Given the description of an element on the screen output the (x, y) to click on. 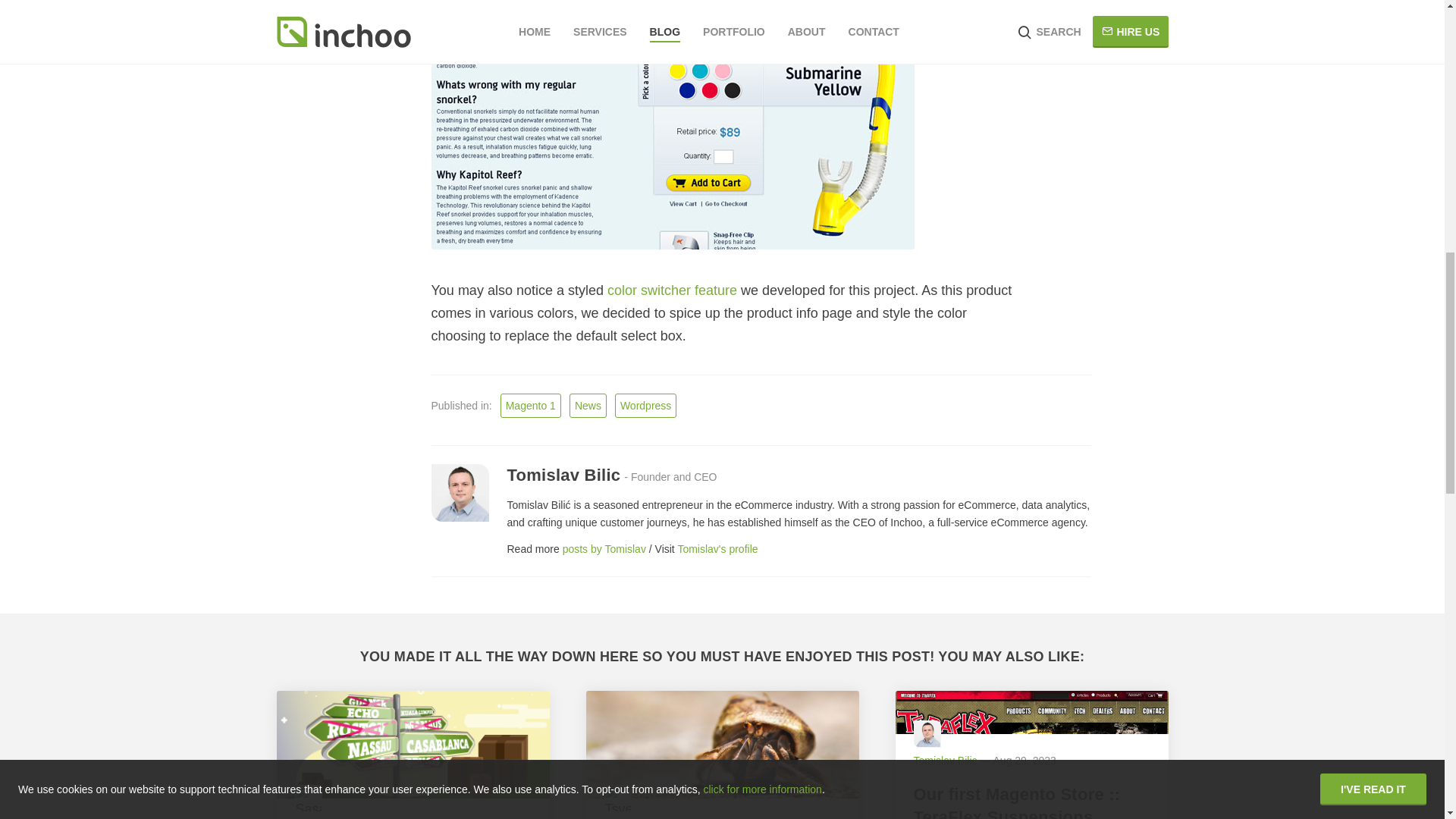
color switcher feature (671, 290)
Magento 1 (530, 405)
Kapitol Reef Snorkel (672, 124)
Color switcher on Magento product page (671, 290)
